Given the description of an element on the screen output the (x, y) to click on. 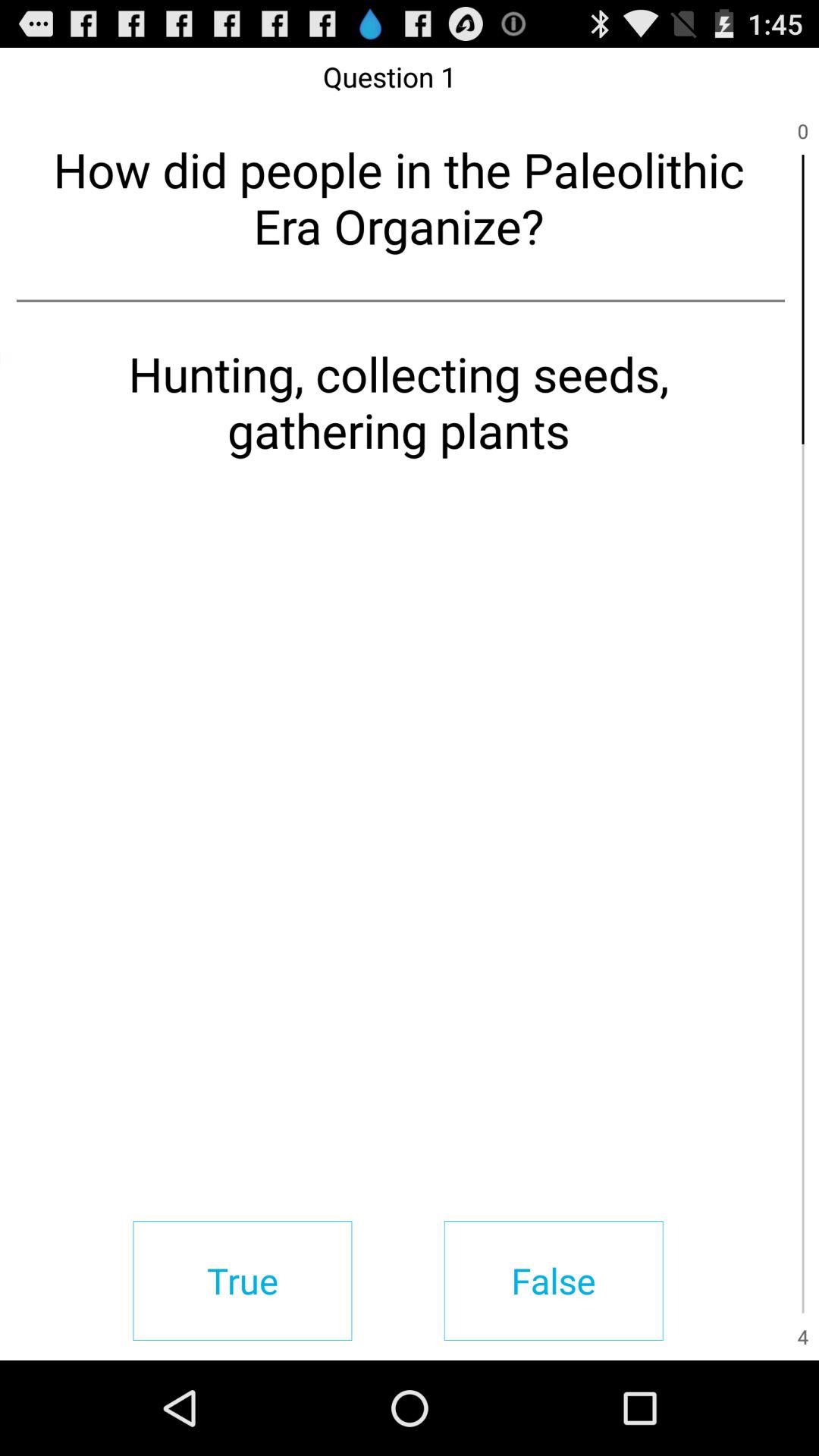
choose the false (553, 1280)
